Given the description of an element on the screen output the (x, y) to click on. 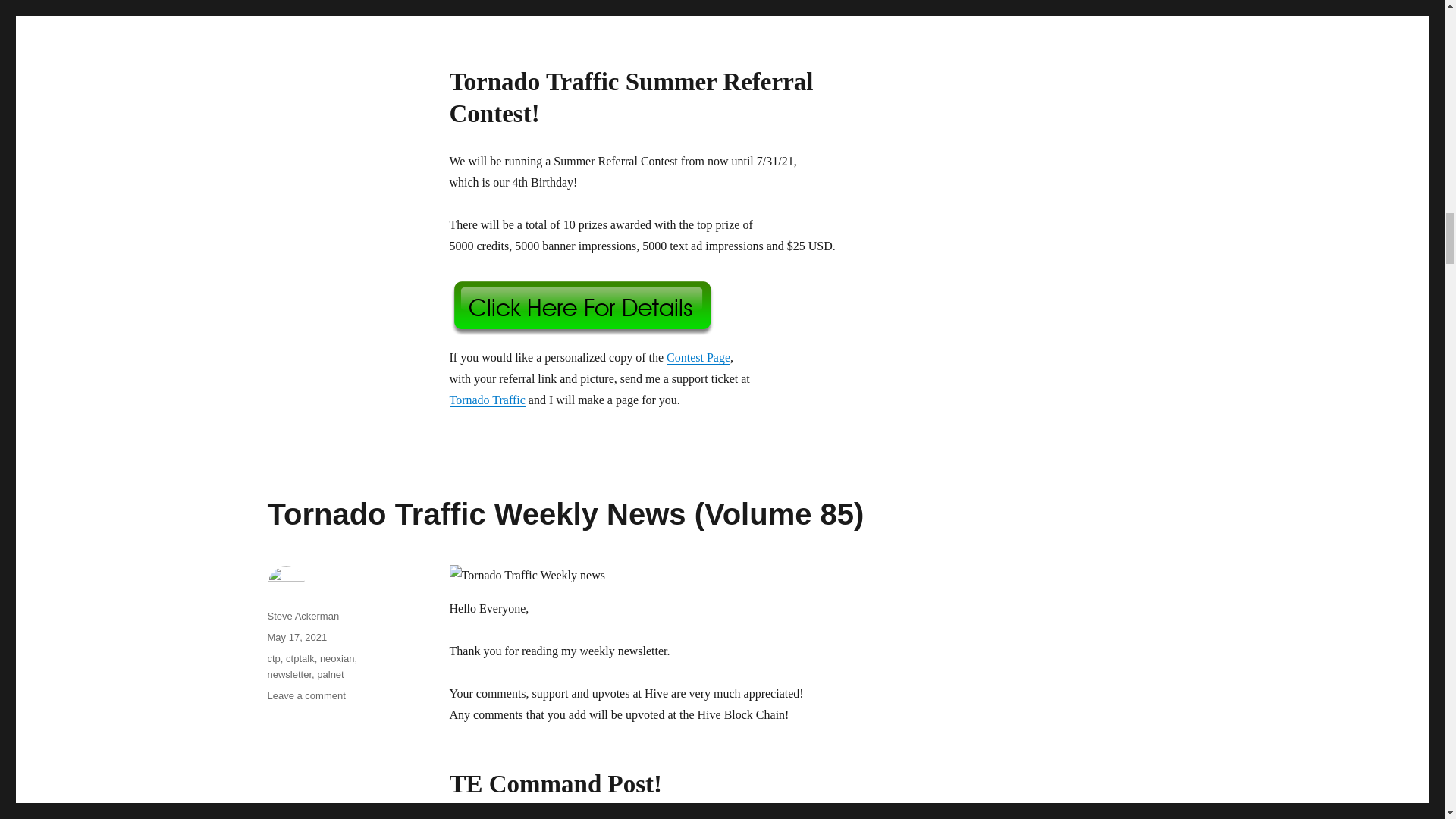
Contest Page (698, 357)
Tornado Traffic Referral Contest (676, 12)
Tornado Traffic (486, 399)
